Given the description of an element on the screen output the (x, y) to click on. 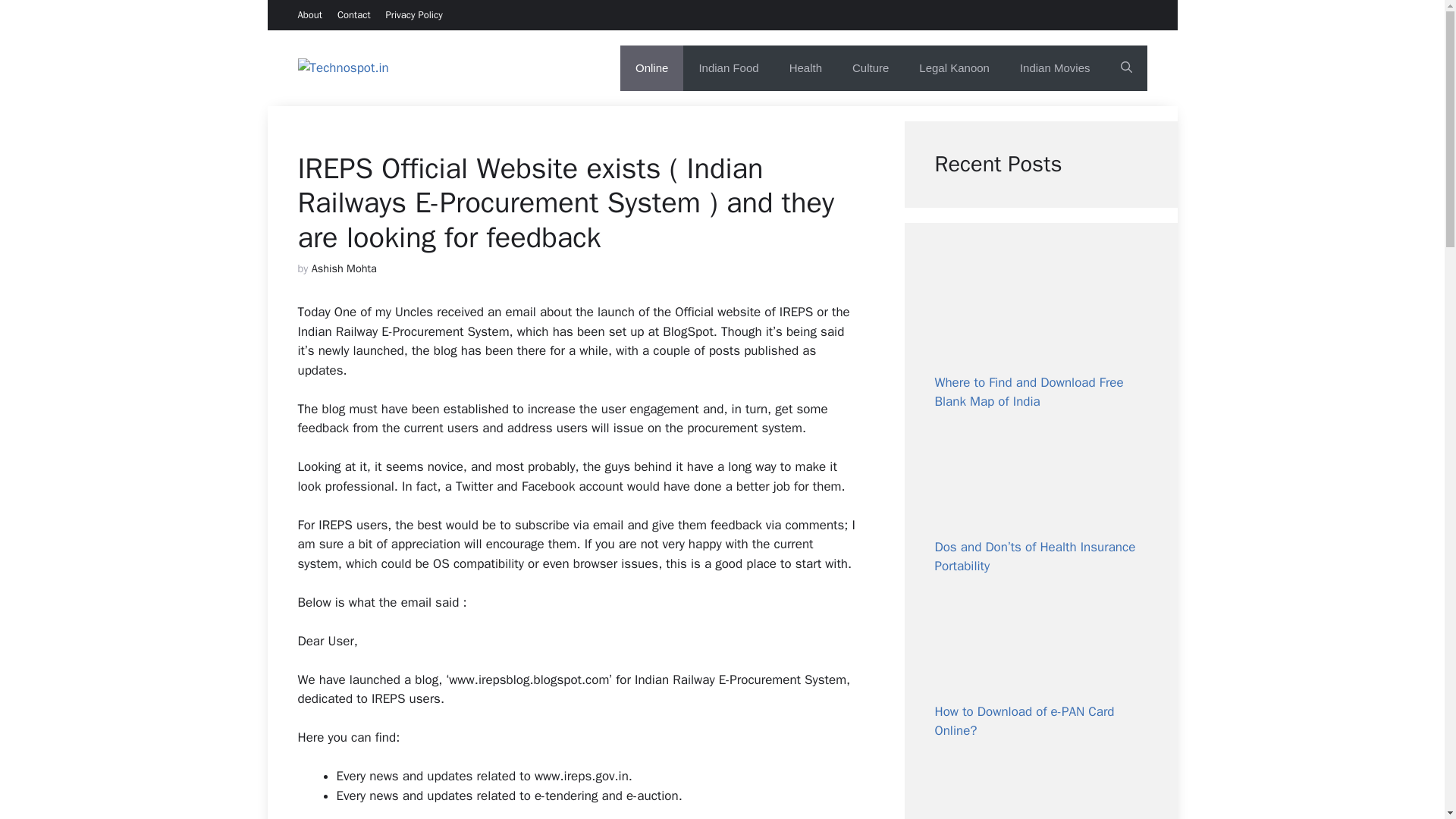
Indian Food (727, 67)
Best Indian Food Recipes (727, 67)
Culture (870, 67)
Privacy Policy (413, 14)
Find out the best movies of all time in India (1054, 67)
Contact (354, 14)
Everything about Indian Laws (954, 67)
Everything about Indian Culture (870, 67)
Technospot.in (459, 67)
How to Download of e-PAN Card Online? (1023, 721)
